Given the description of an element on the screen output the (x, y) to click on. 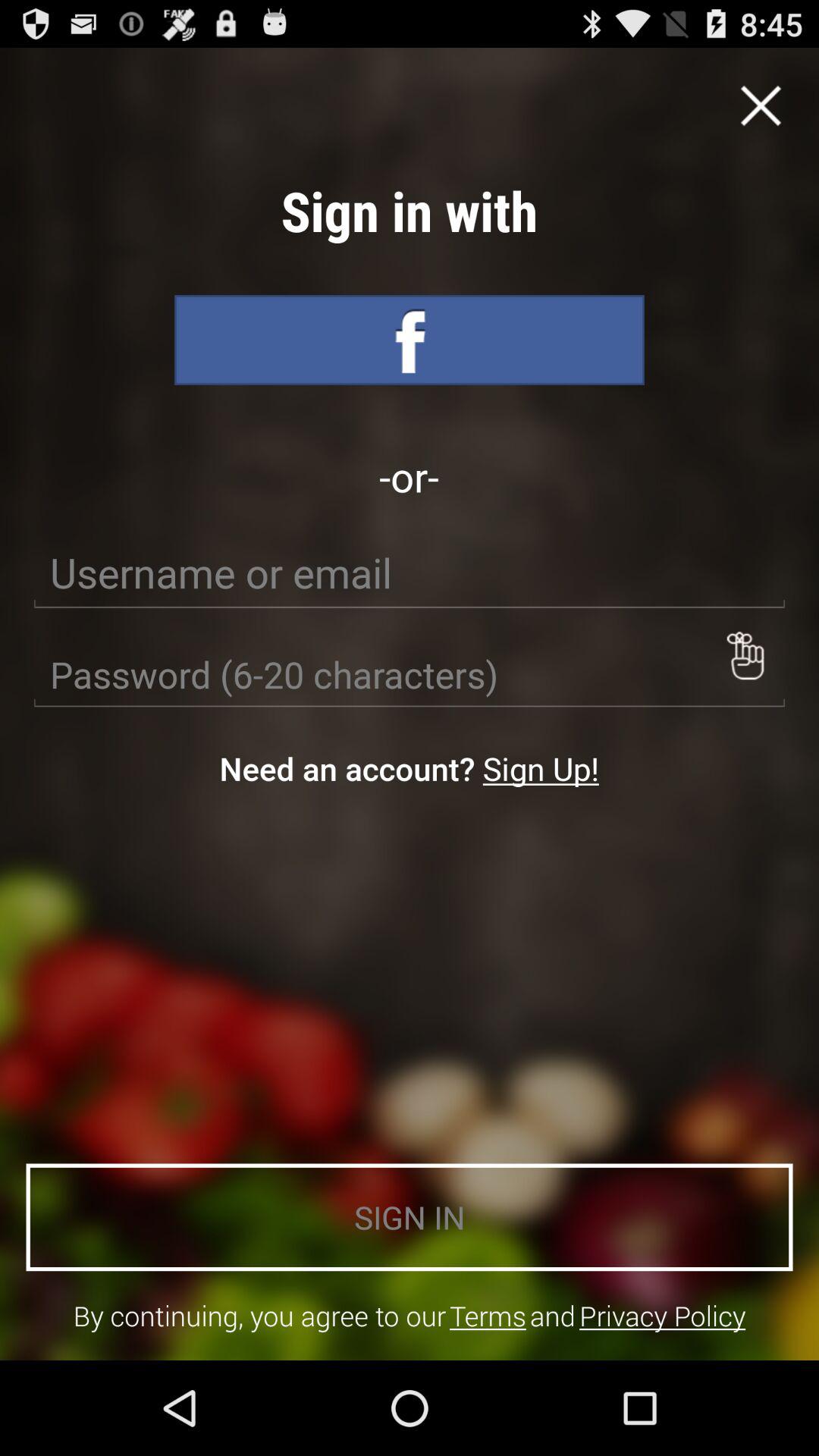
tap icon at the top right corner (760, 105)
